Given the description of an element on the screen output the (x, y) to click on. 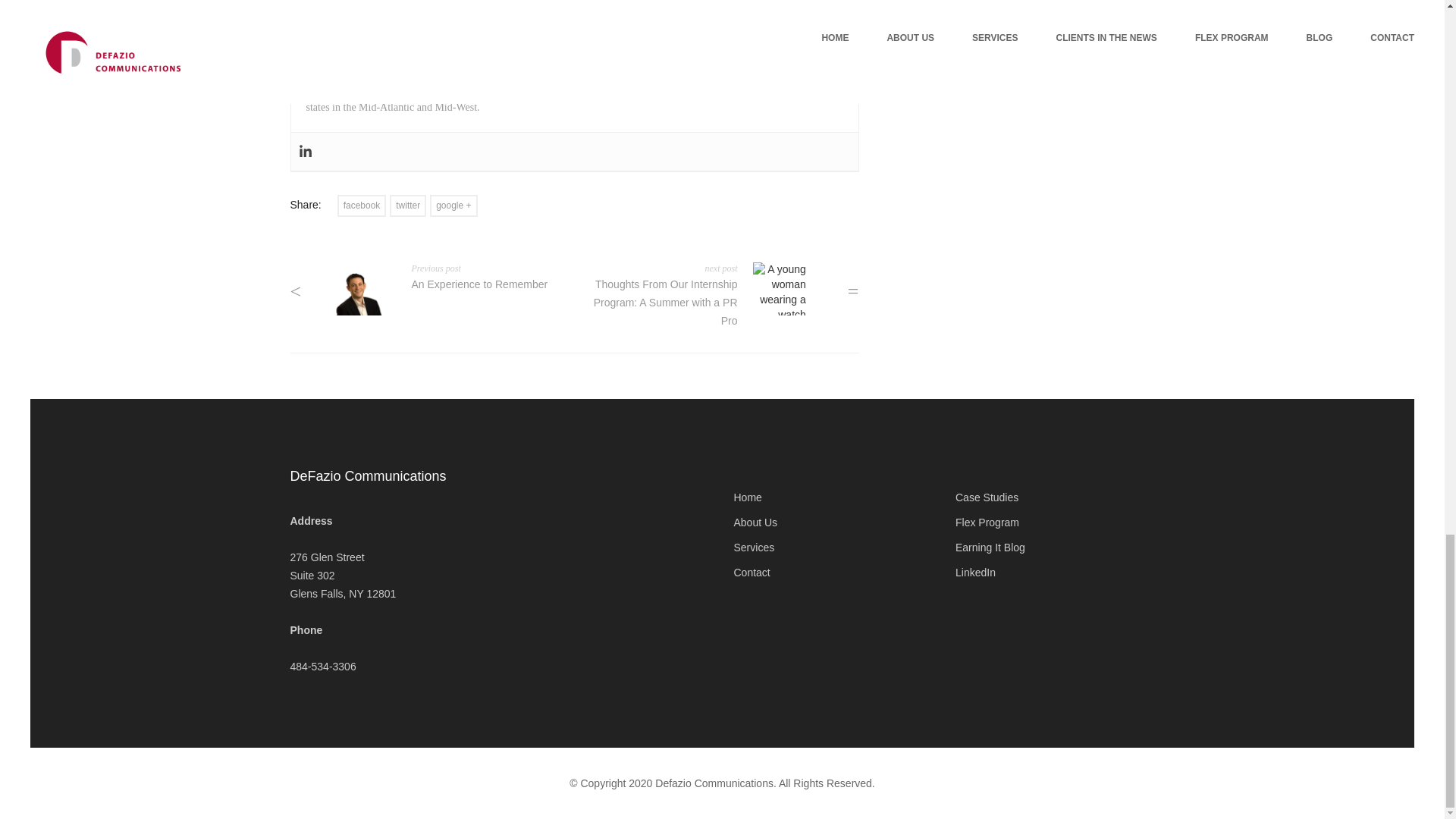
Linkedin (305, 151)
Case Studies (986, 497)
An Experience to Remember (478, 284)
Services (753, 547)
facebook (362, 205)
Earning It Blog (990, 547)
Flex Program (987, 522)
About Us (755, 522)
Home (747, 497)
Contact (751, 572)
twitter (408, 205)
